Given the description of an element on the screen output the (x, y) to click on. 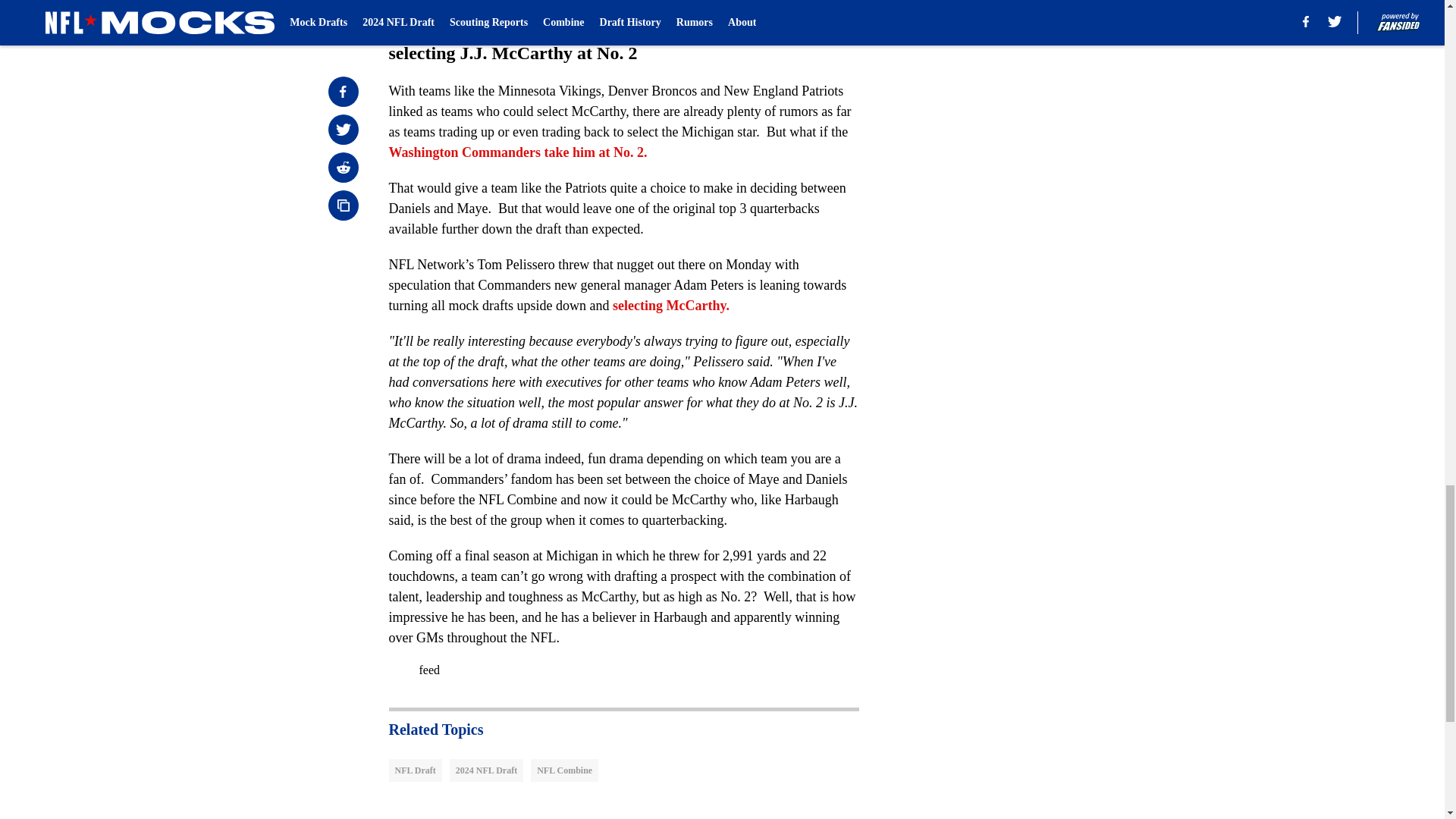
Washington Commanders take him at No. 2. (517, 151)
NFL Combine (564, 770)
selecting McCarthy. (670, 305)
NFL Draft (414, 770)
2024 NFL Draft (485, 770)
